Given the description of an element on the screen output the (x, y) to click on. 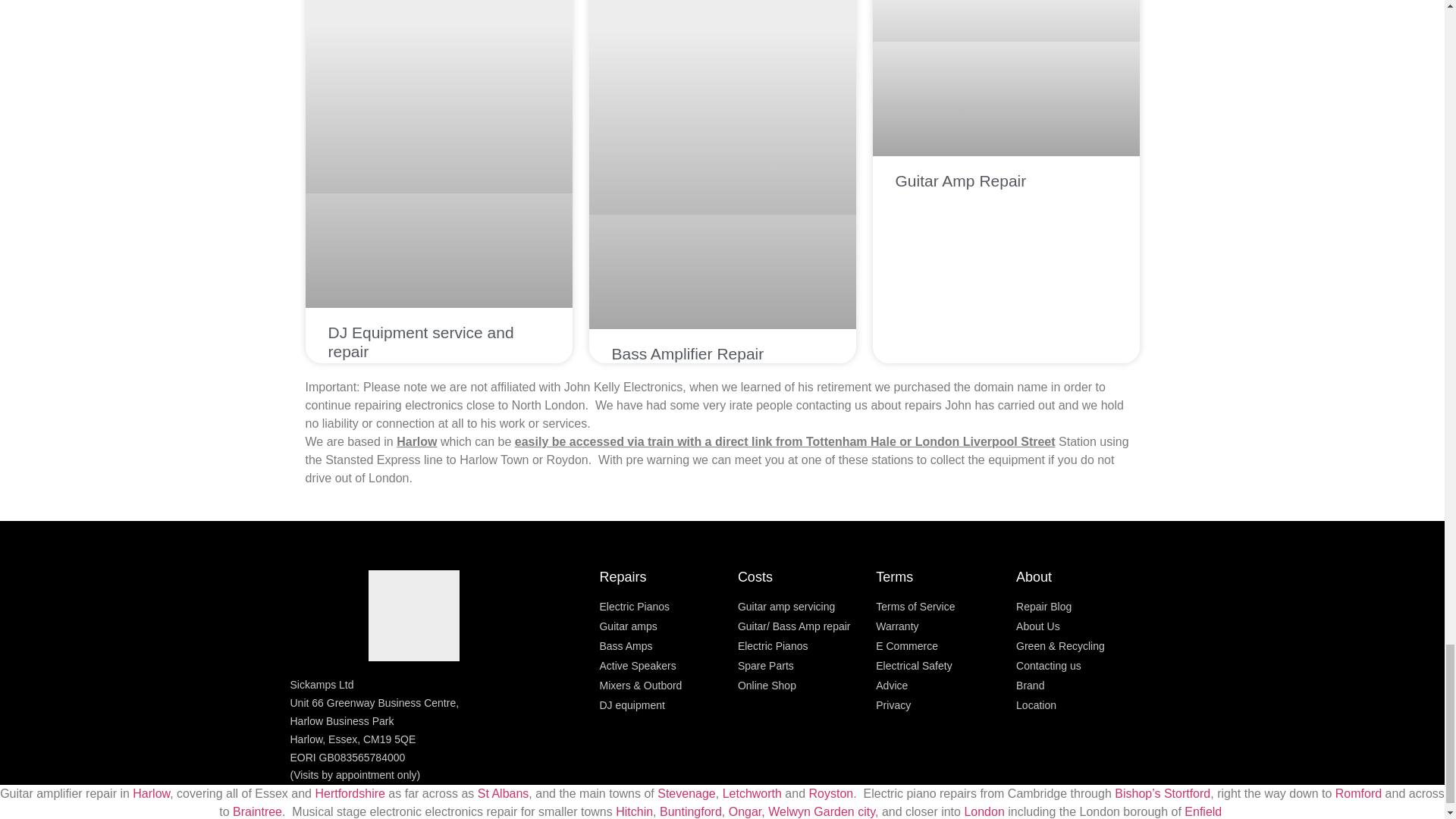
London 7 (1006, 20)
London 5 (438, 96)
London 6 (722, 107)
